Given the description of an element on the screen output the (x, y) to click on. 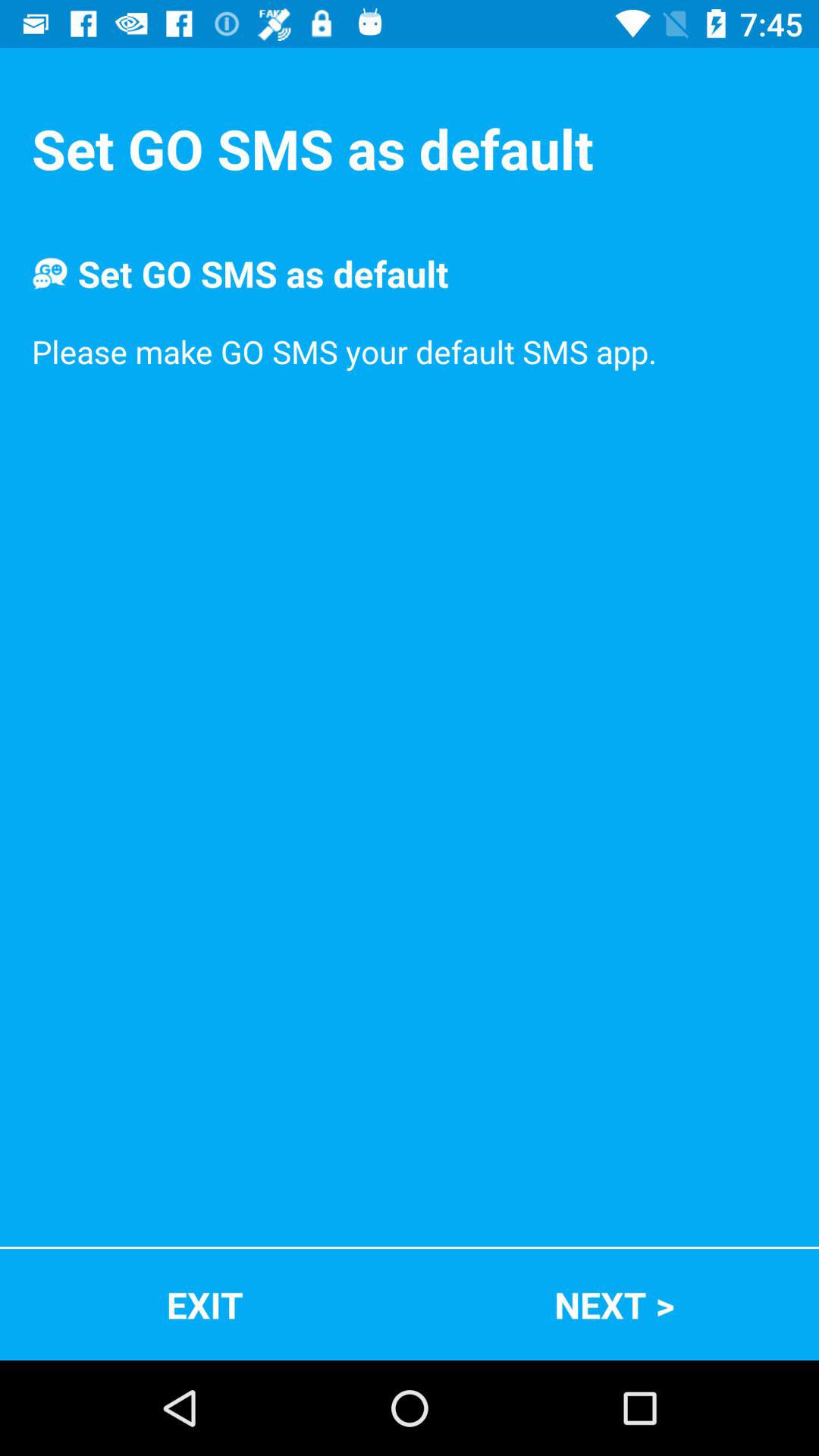
choose the item to the left of the next > item (204, 1304)
